Given the description of an element on the screen output the (x, y) to click on. 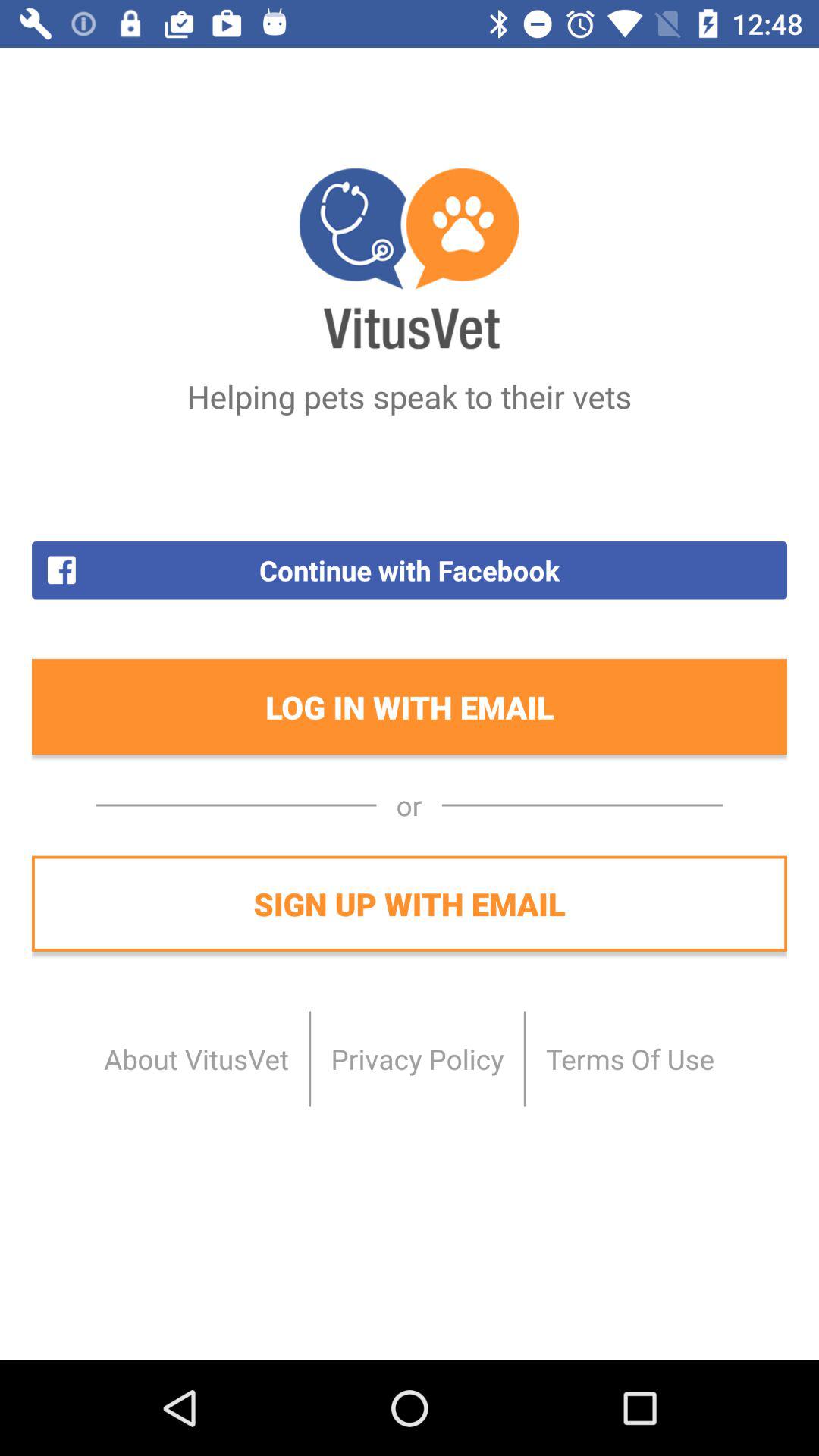
click the icon below sign up with icon (417, 1058)
